Given the description of an element on the screen output the (x, y) to click on. 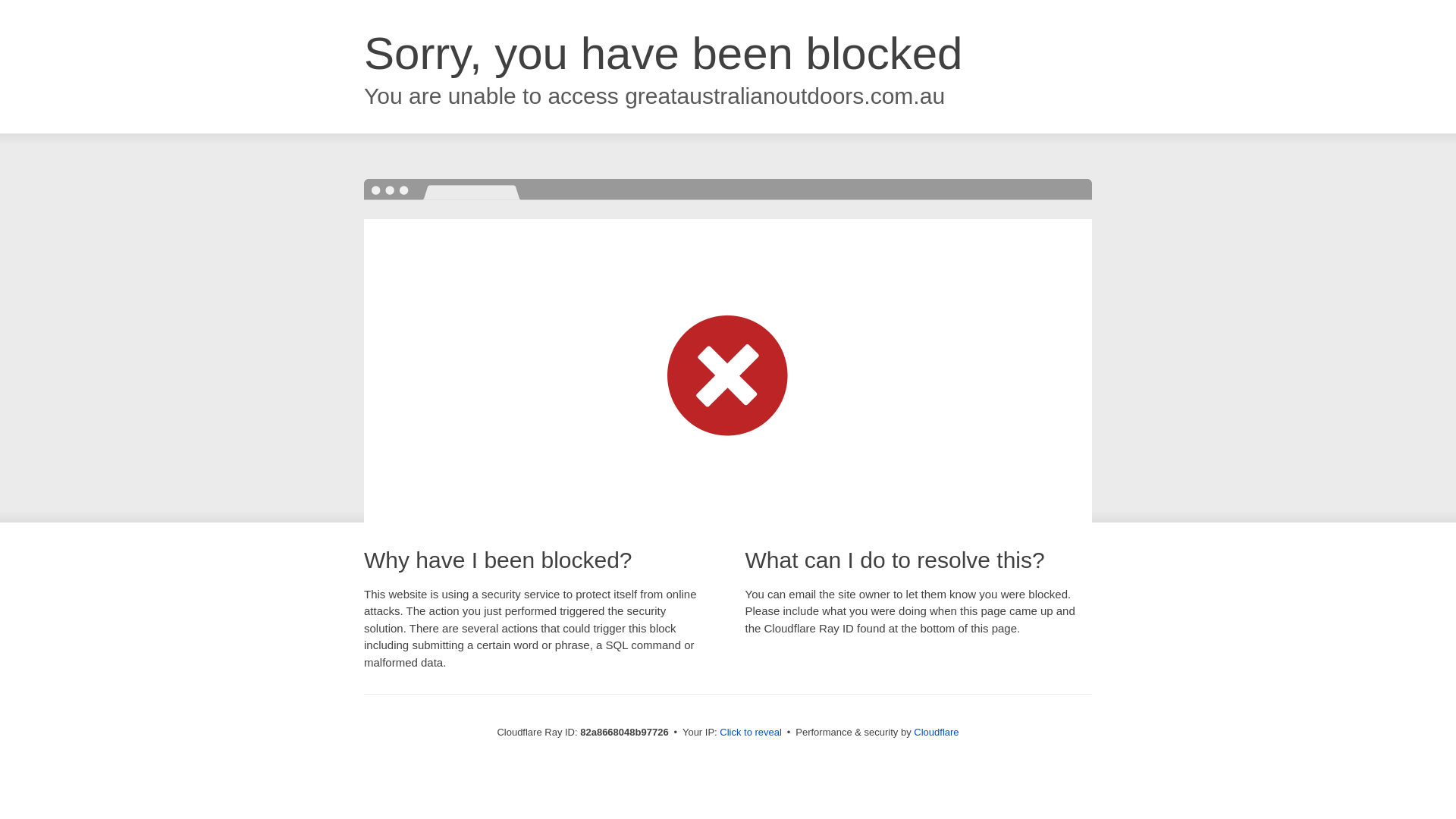
Cloudflare Element type: text (935, 731)
Click to reveal Element type: text (750, 732)
